Given the description of an element on the screen output the (x, y) to click on. 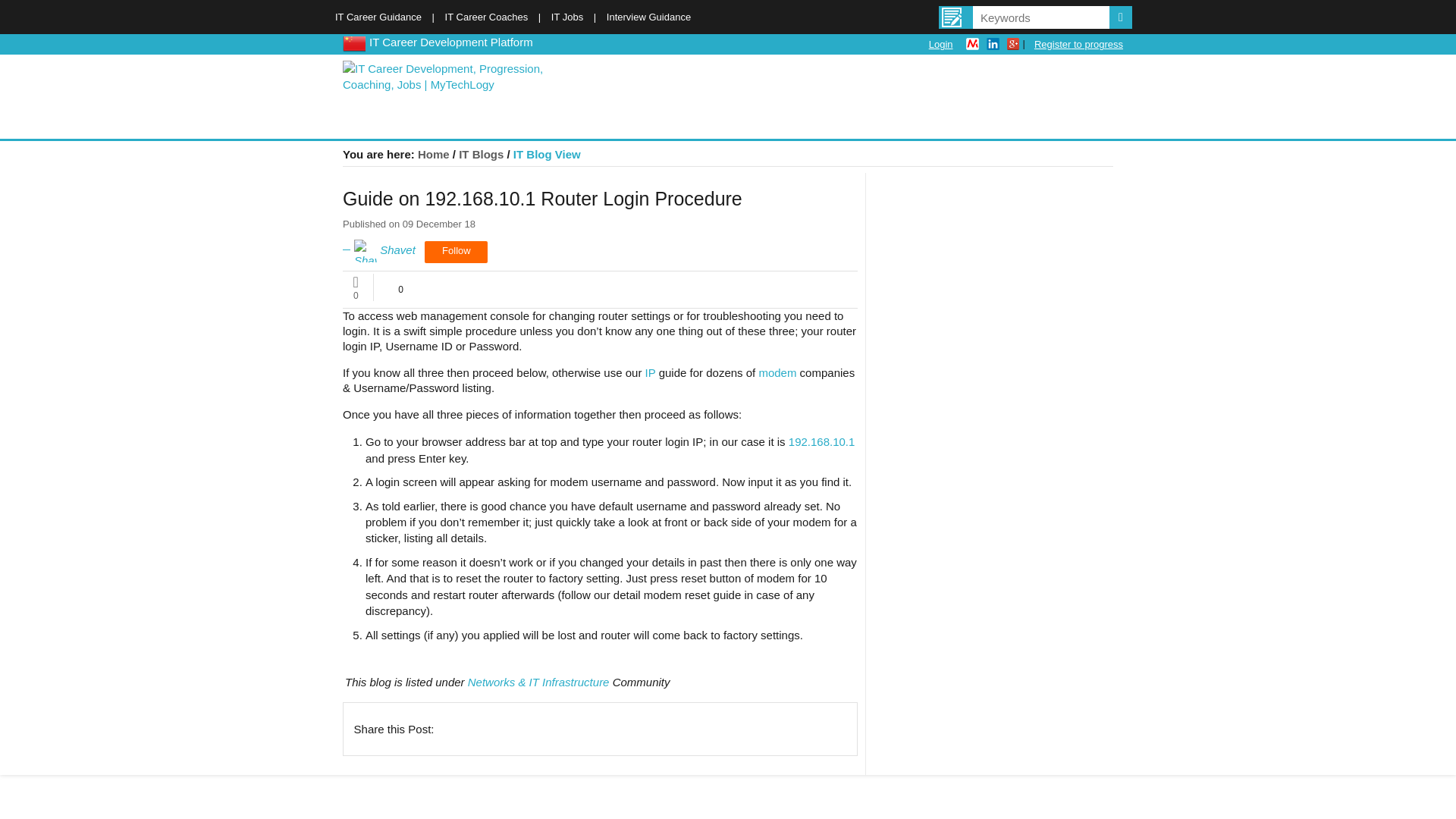
IT Career Guidance (378, 16)
Shavet (378, 249)
Home (433, 154)
IT Blogs (480, 154)
This post is useful (400, 277)
Login (940, 43)
China (353, 41)
Follow (456, 251)
Register to progress (1077, 43)
IT Career Coaches (486, 16)
